Given the description of an element on the screen output the (x, y) to click on. 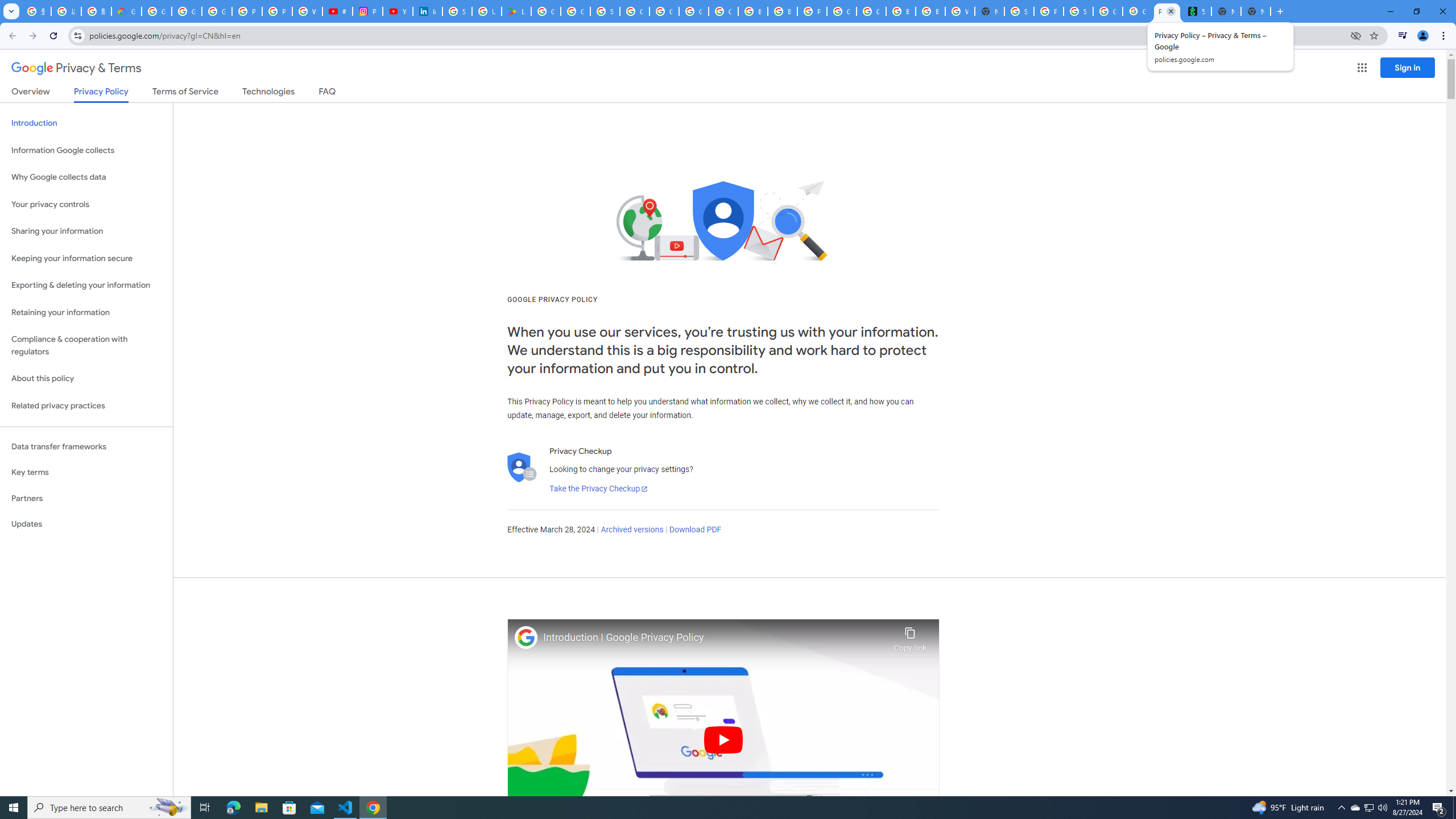
Browse Chrome as a guest - Computer - Google Chrome Help (900, 11)
Download PDF (695, 529)
Compliance & cooperation with regulators (86, 345)
YouTube Culture & Trends - On The Rise: Handcam Videos (397, 11)
Google Cloud Platform (841, 11)
Exporting & deleting your information (86, 284)
